Given the description of an element on the screen output the (x, y) to click on. 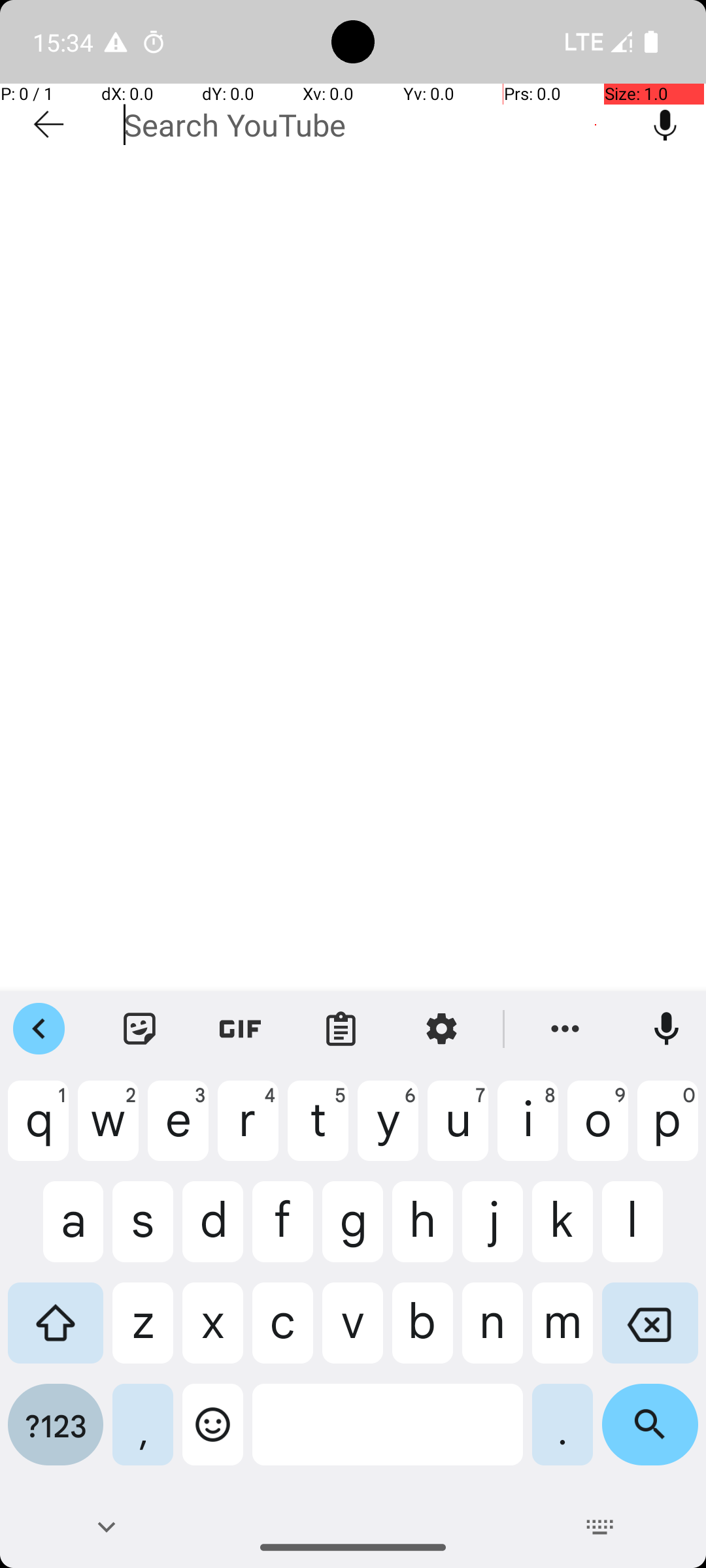
Navigate up Element type: android.widget.ImageButton (48, 124)
Search YouTube Element type: android.widget.EditText (373, 124)
Voice search Element type: android.widget.ImageView (664, 124)
Back Element type: android.widget.ImageView (106, 1526)
Switch input method Element type: android.widget.ImageView (599, 1526)
Close features menu Element type: android.widget.FrameLayout (39, 1028)
Sticker Keyboard Element type: android.widget.FrameLayout (139, 1028)
GIF Keyboard Element type: android.widget.FrameLayout (240, 1028)
Clipboard Element type: android.widget.FrameLayout (340, 1028)
Settings Element type: android.widget.FrameLayout (441, 1028)
More features Element type: android.widget.FrameLayout (565, 1028)
Voice input Element type: android.widget.FrameLayout (666, 1028)
q Element type: android.widget.FrameLayout (38, 1130)
w Element type: android.widget.FrameLayout (108, 1130)
e Element type: android.widget.FrameLayout (178, 1130)
r Element type: android.widget.FrameLayout (248, 1130)
t Element type: android.widget.FrameLayout (318, 1130)
y Element type: android.widget.FrameLayout (387, 1130)
u Element type: android.widget.FrameLayout (457, 1130)
i Element type: android.widget.FrameLayout (527, 1130)
o Element type: android.widget.FrameLayout (597, 1130)
p Element type: android.widget.FrameLayout (667, 1130)
a Element type: android.widget.FrameLayout (55, 1231)
s Element type: android.widget.FrameLayout (142, 1231)
d Element type: android.widget.FrameLayout (212, 1231)
f Element type: android.widget.FrameLayout (282, 1231)
g Element type: android.widget.FrameLayout (352, 1231)
h Element type: android.widget.FrameLayout (422, 1231)
j Element type: android.widget.FrameLayout (492, 1231)
k Element type: android.widget.FrameLayout (562, 1231)
l Element type: android.widget.FrameLayout (649, 1231)
Shift Element type: android.widget.FrameLayout (55, 1332)
z Element type: android.widget.FrameLayout (142, 1332)
x Element type: android.widget.FrameLayout (212, 1332)
c Element type: android.widget.FrameLayout (282, 1332)
v Element type: android.widget.FrameLayout (352, 1332)
b Element type: android.widget.FrameLayout (422, 1332)
n Element type: android.widget.FrameLayout (492, 1332)
m Element type: android.widget.FrameLayout (562, 1332)
Delete Element type: android.widget.FrameLayout (649, 1332)
Symbol keyboard Element type: android.widget.FrameLayout (55, 1434)
, Element type: android.widget.FrameLayout (142, 1434)
Emoji button Element type: android.widget.FrameLayout (212, 1434)
Space Element type: android.widget.FrameLayout (387, 1434)
. Element type: android.widget.FrameLayout (562, 1434)
Search Element type: android.widget.FrameLayout (649, 1434)
